Given the description of an element on the screen output the (x, y) to click on. 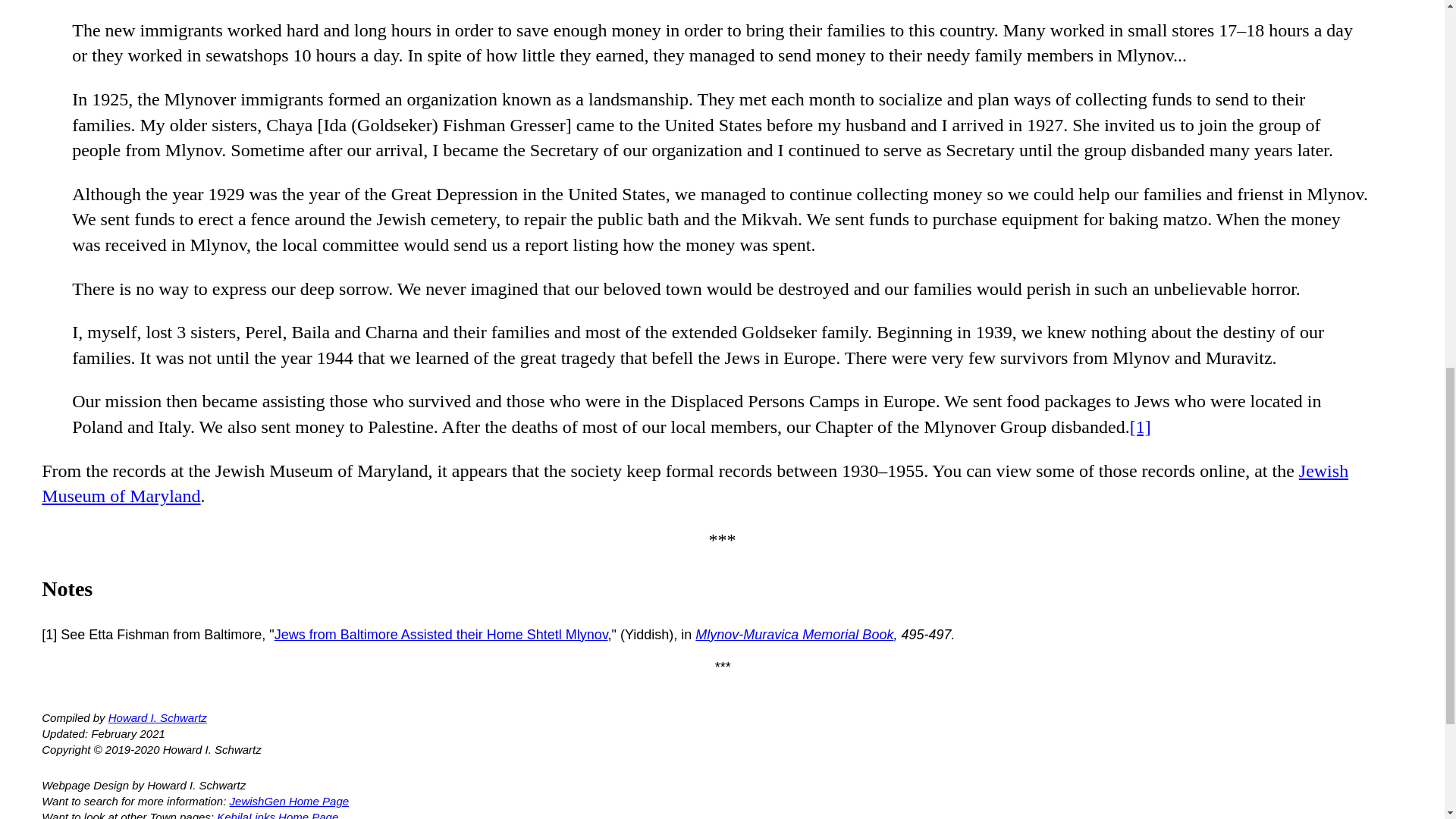
JewishGen Home Page (289, 800)
Jews from Baltimore Assisted their Home Shtetl Mlynov (441, 634)
Howard I. Schwartz (156, 717)
Mlynov-Muravica Memorial Book (794, 634)
Jewish Museum of Maryland (695, 483)
KehilaLinks Home Page (276, 814)
